Given the description of an element on the screen output the (x, y) to click on. 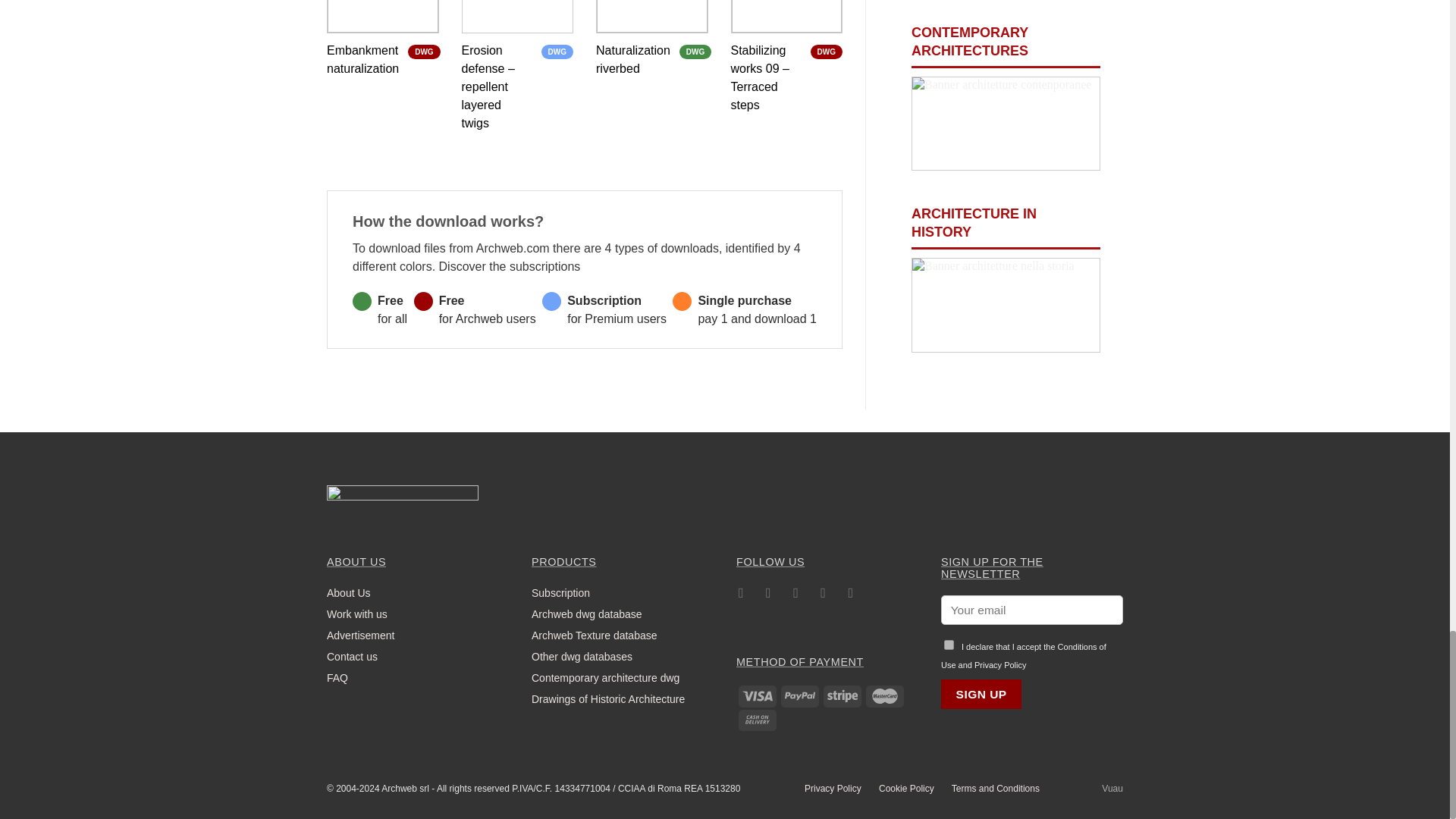
Follow on X (795, 596)
Follow on LinkedIn (822, 596)
Follow on Instagram (767, 596)
Follow on Facebook (741, 596)
on (948, 644)
Sign up (981, 694)
Follow on YouTube (850, 596)
